Given the description of an element on the screen output the (x, y) to click on. 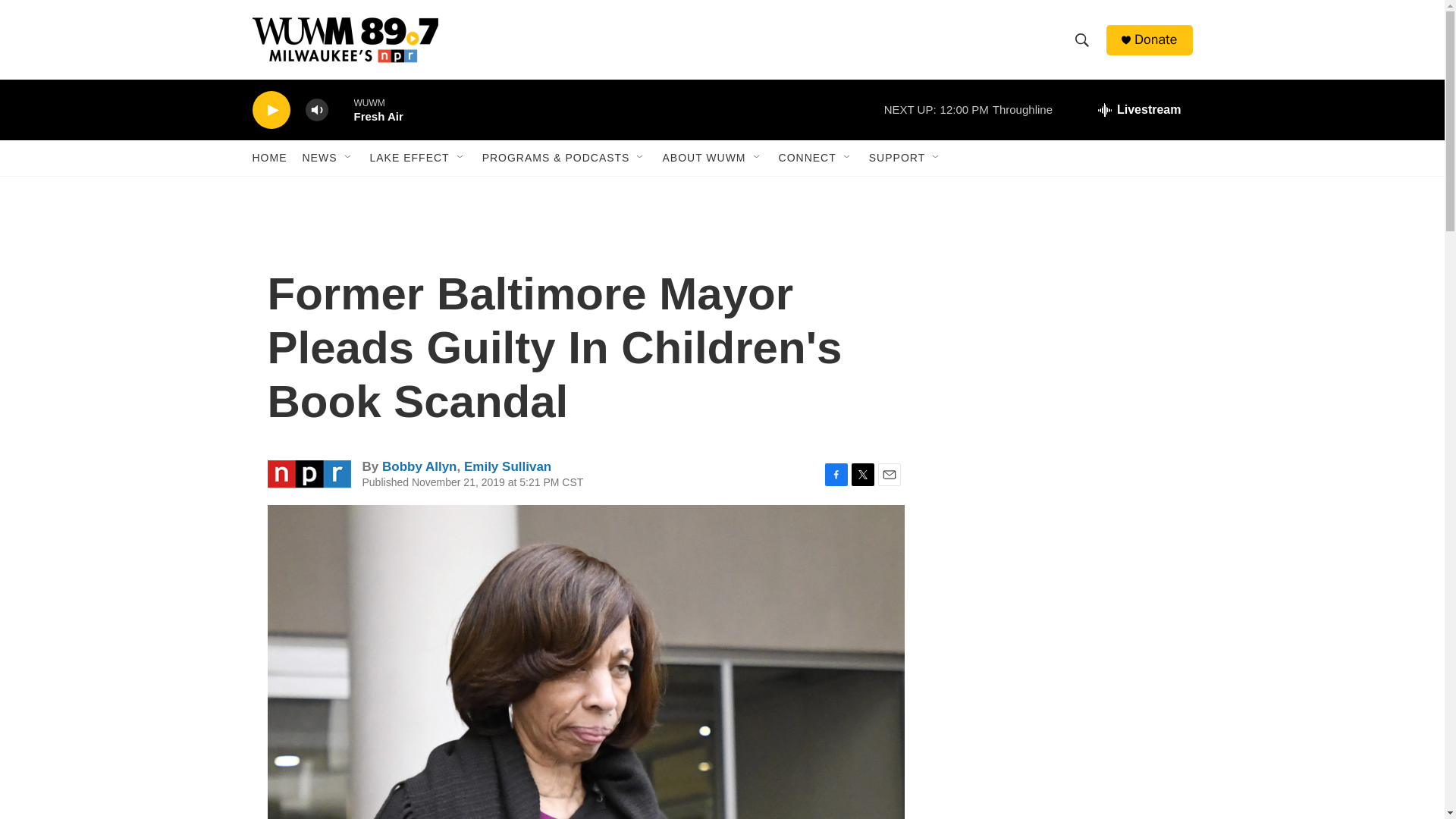
3rd party ad content (1062, 316)
